Given the description of an element on the screen output the (x, y) to click on. 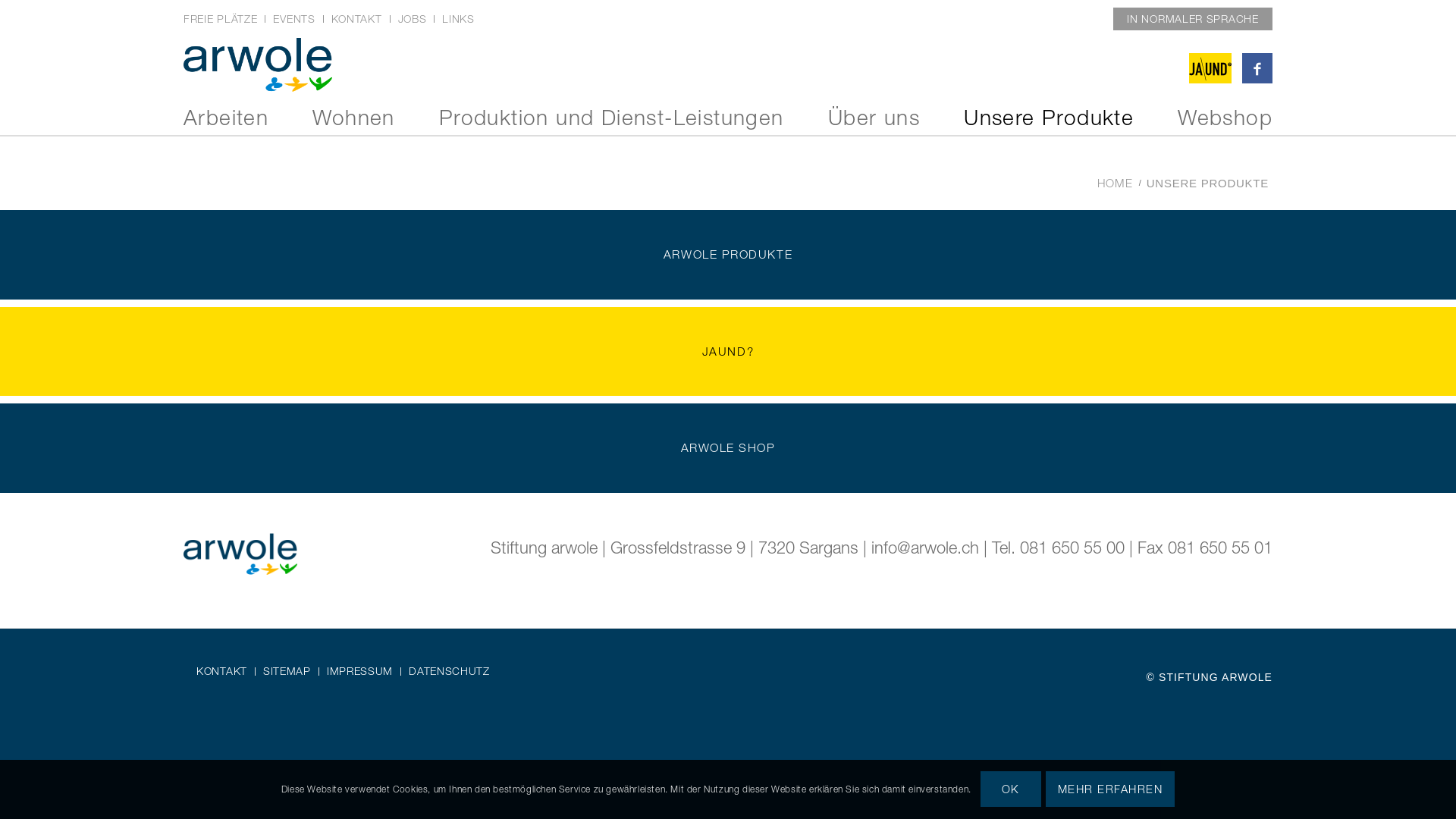
Webshop Element type: text (1224, 117)
IMPRESSUM Element type: text (359, 671)
EVENTS Element type: text (293, 18)
HOME Element type: text (1114, 182)
KONTAKT Element type: text (221, 671)
KONTAKT Element type: text (356, 18)
Wohnen Element type: text (353, 117)
Facebook Element type: hover (1257, 68)
Arbeiten Element type: text (225, 117)
IN NORMALER SPRACHE Element type: text (1192, 18)
Unsere Produkte Element type: text (1048, 117)
MEHR ERFAHREN Element type: text (1109, 789)
LINKS Element type: text (458, 18)
JOBS Element type: text (412, 18)
OK Element type: text (1010, 789)
DATENSCHUTZ Element type: text (448, 671)
info@arwole.ch Element type: text (925, 547)
Tel. 081 650 55 00 Element type: text (1057, 547)
Jaund Element type: hover (1210, 68)
arwole-logo Element type: hover (257, 64)
Fax 081 650 55 01 Element type: text (1204, 547)
Produktion und Dienst-Leistungen Element type: text (611, 117)
SITEMAP Element type: text (286, 671)
